Given the description of an element on the screen output the (x, y) to click on. 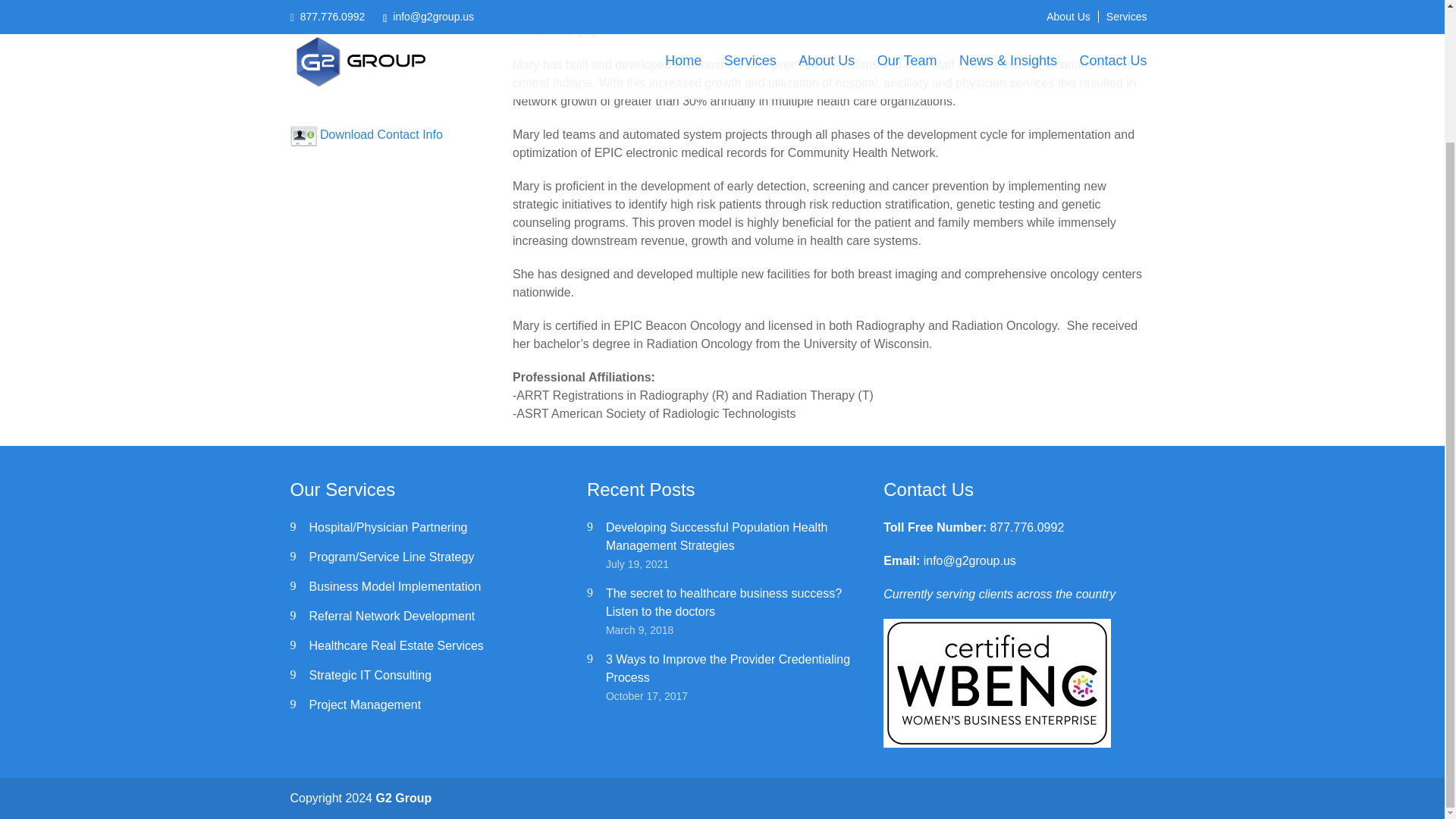
3 Ways to Improve the Provider Credentialing Process (727, 667)
Healthcare Real Estate Services (395, 645)
G2 Group (402, 797)
Project Management (365, 704)
Download Contact Info (381, 133)
877.776.0992 (1027, 526)
Referral Network Development (392, 615)
Business Model Implementation (394, 585)
